Given the description of an element on the screen output the (x, y) to click on. 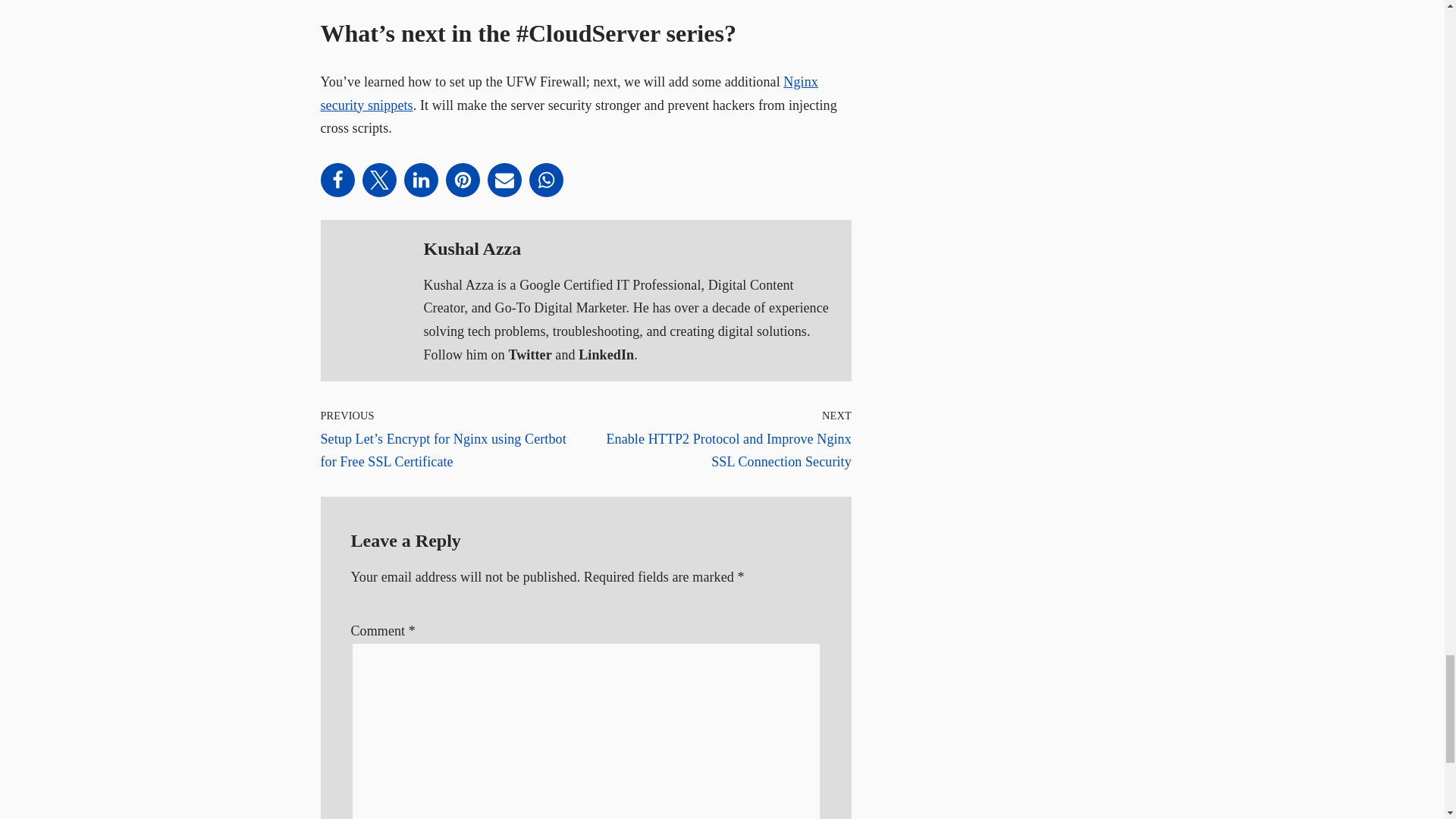
Nginx security snippets (568, 93)
